Given the description of an element on the screen output the (x, y) to click on. 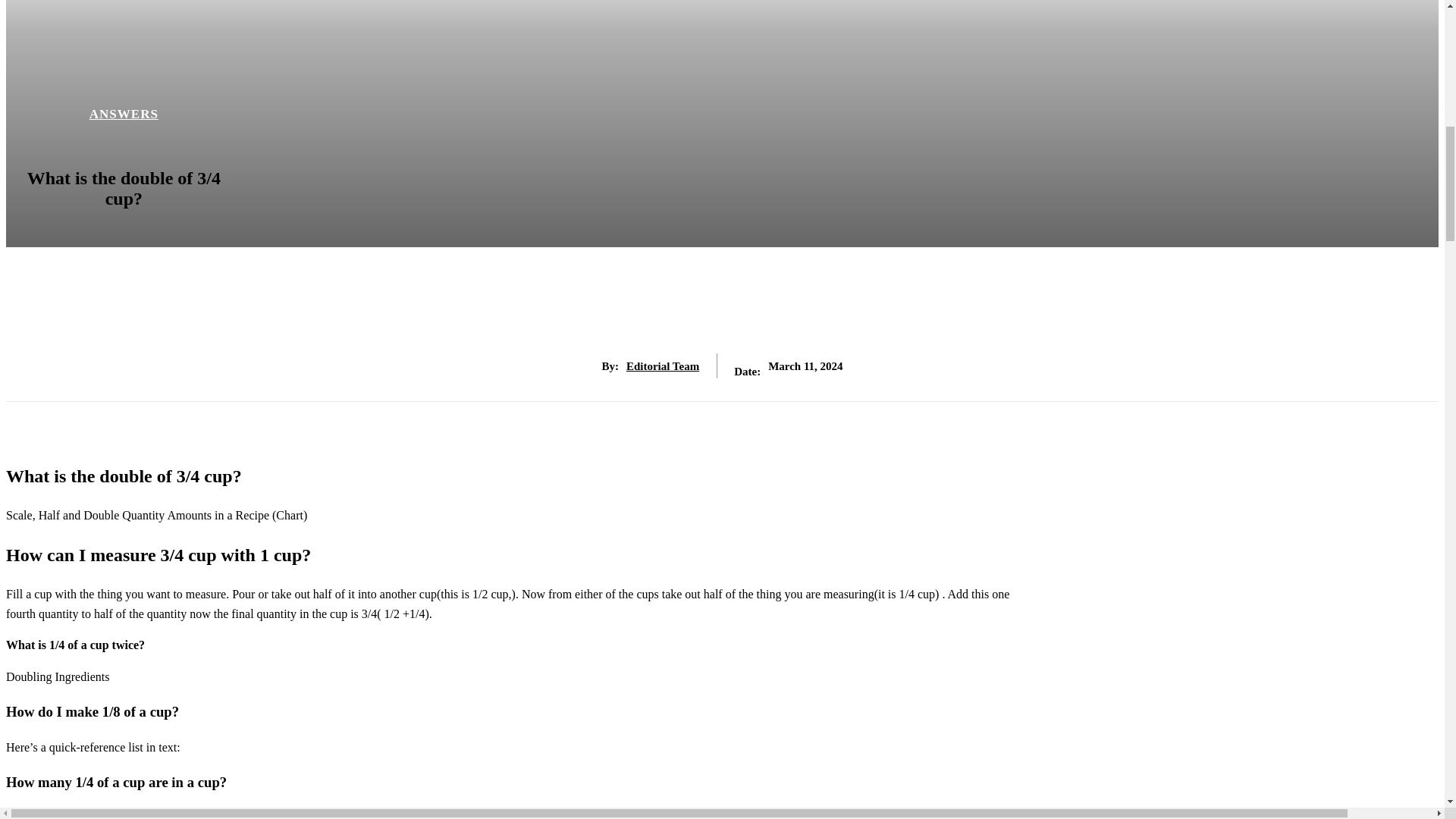
Editorial Team (662, 366)
ANSWERS (123, 113)
